Given the description of an element on the screen output the (x, y) to click on. 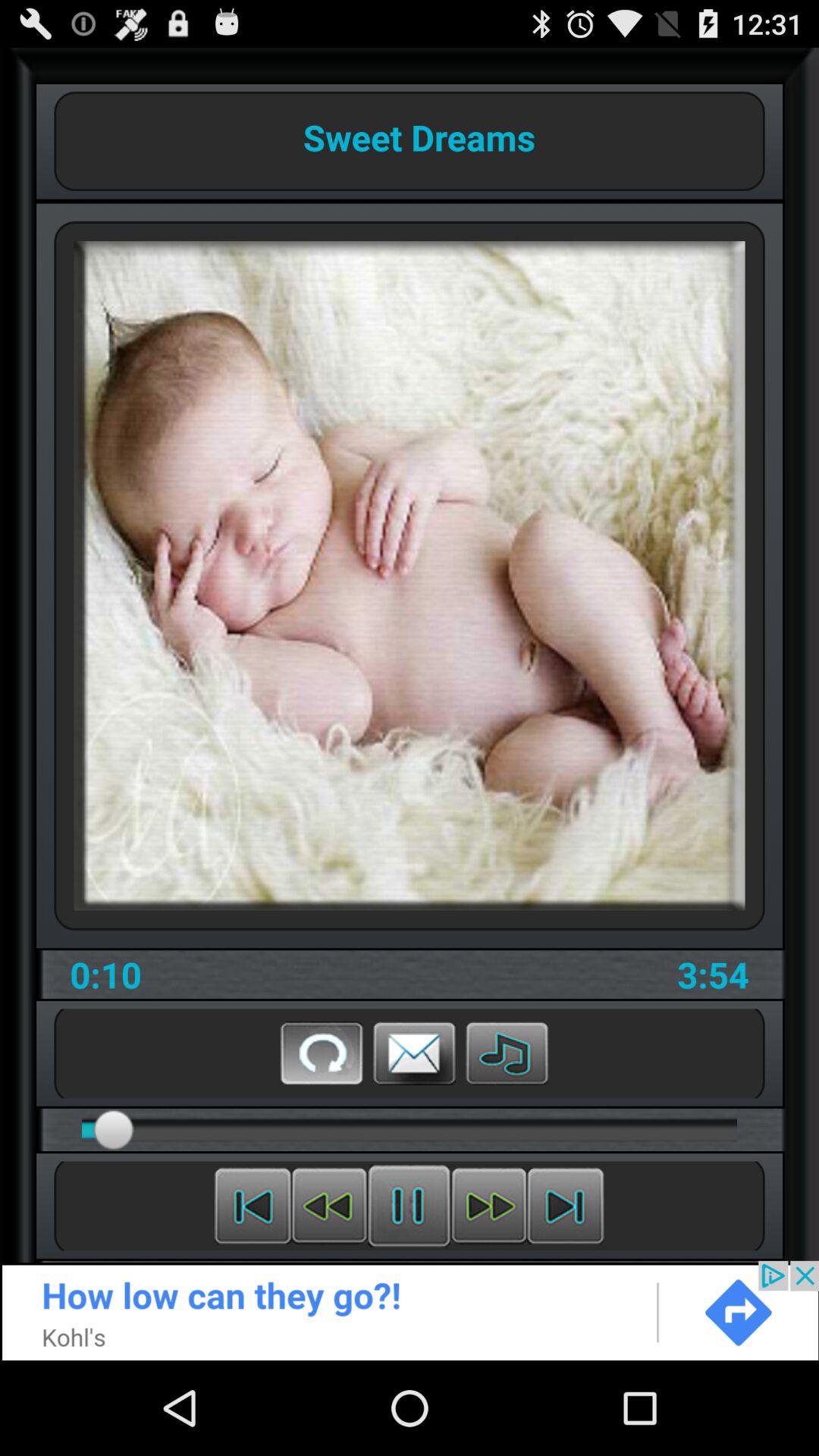
send email (414, 1053)
